Given the description of an element on the screen output the (x, y) to click on. 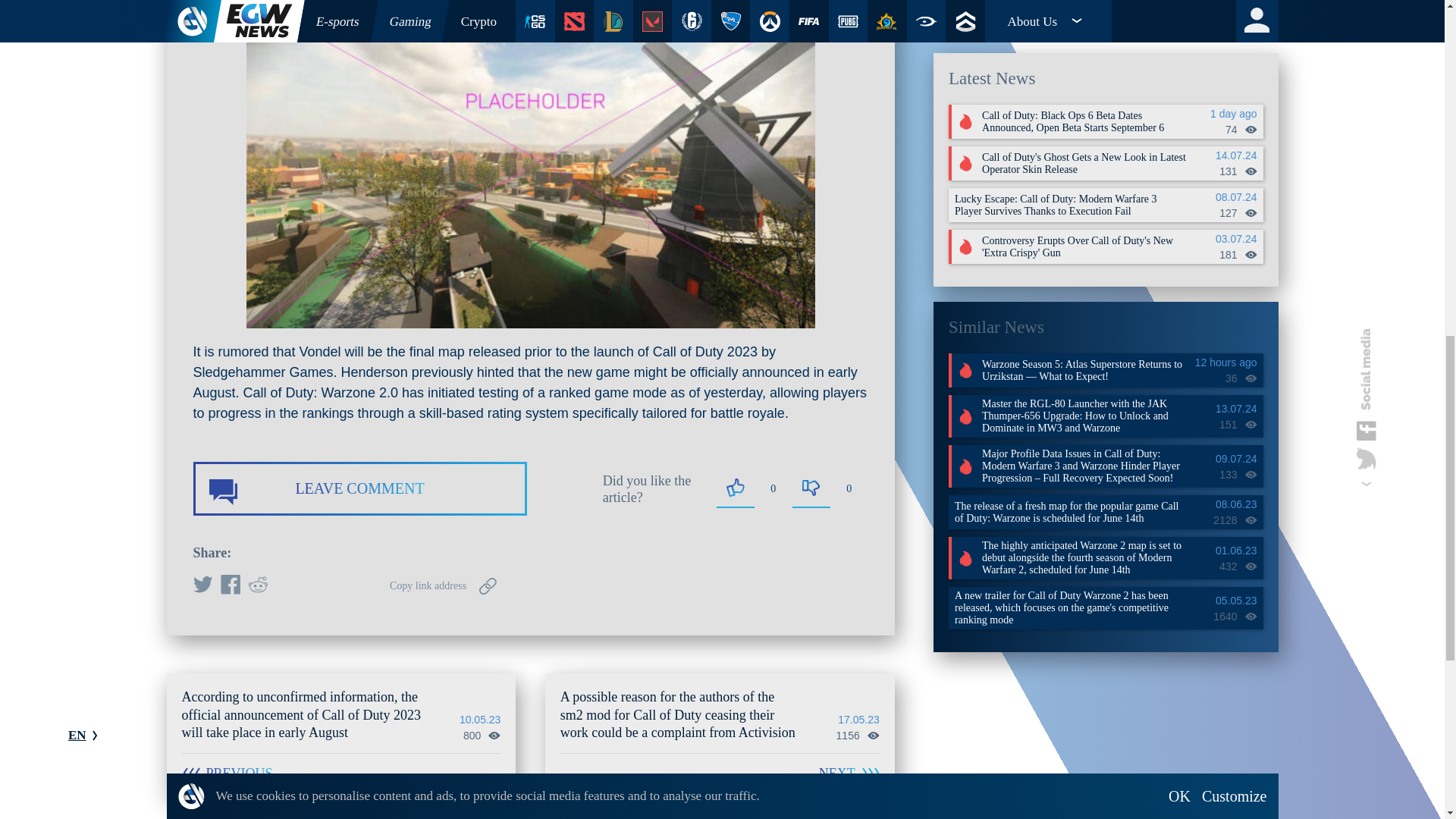
Twitter (202, 585)
Reddit (256, 585)
Facebook (229, 585)
